Given the description of an element on the screen output the (x, y) to click on. 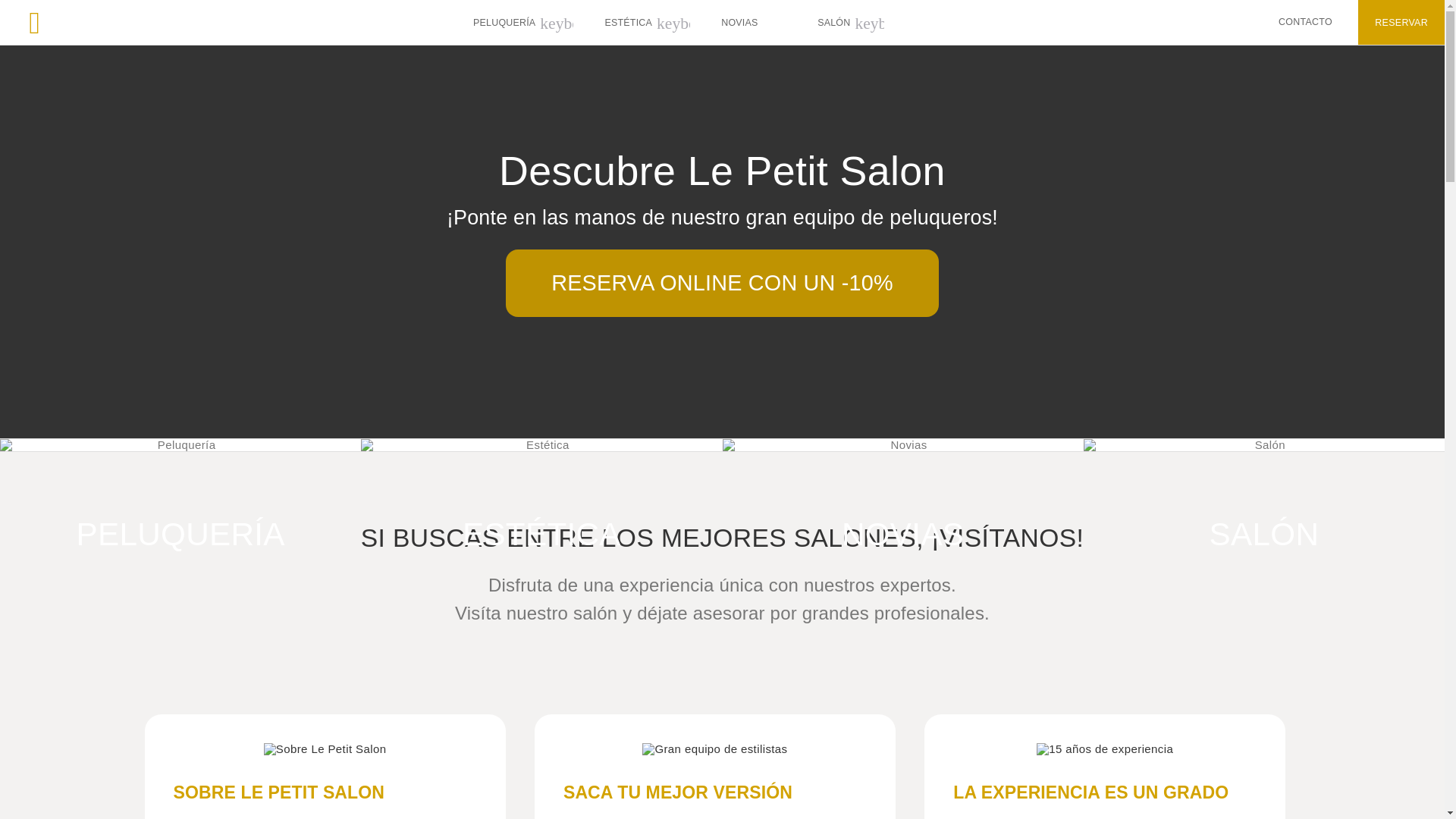
Novias (739, 21)
NOVIAS (739, 21)
